Given the description of an element on the screen output the (x, y) to click on. 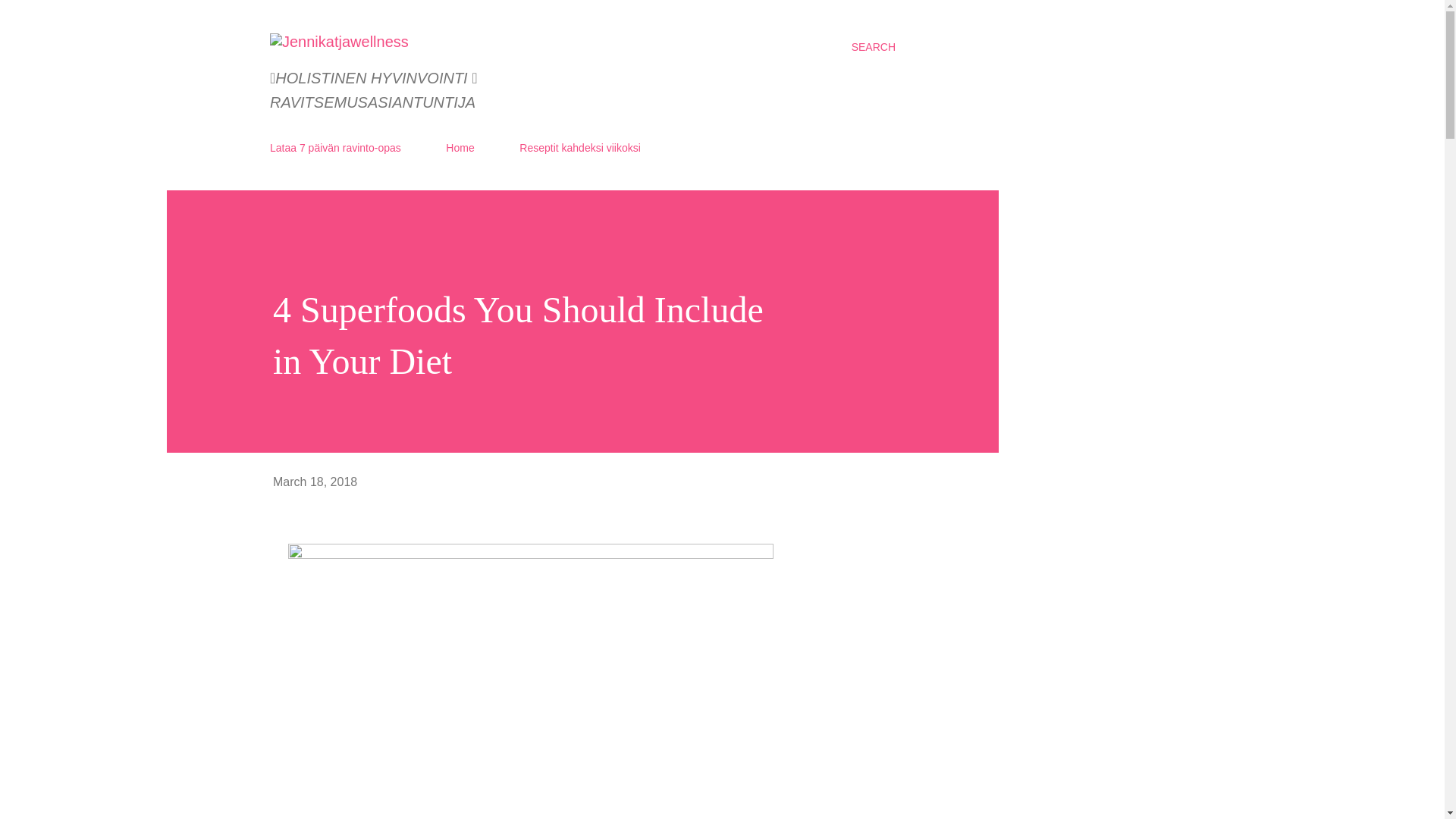
SEARCH (873, 46)
Home (459, 147)
permanent link (314, 481)
Reseptit kahdeksi viikoksi (580, 147)
March 18, 2018 (314, 481)
